Given the description of an element on the screen output the (x, y) to click on. 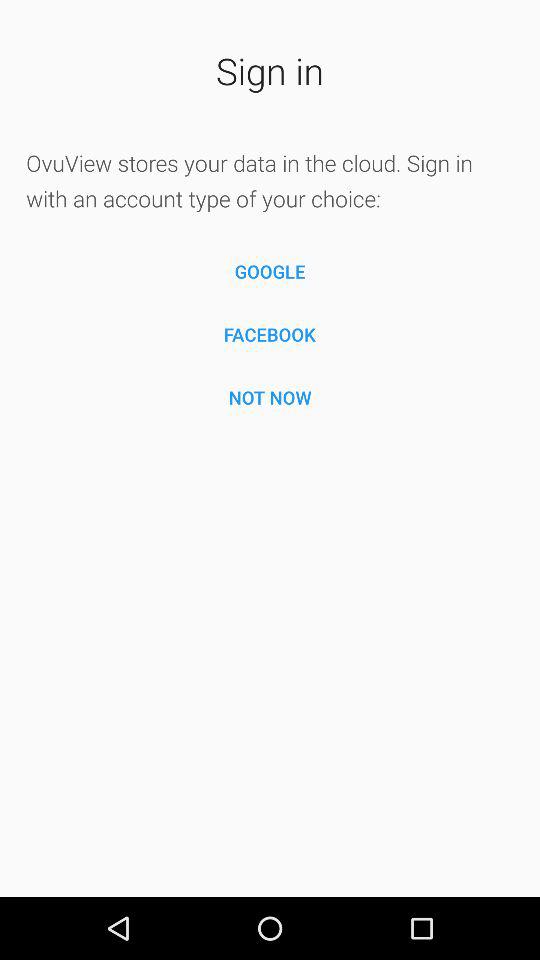
choose the icon below the facebook (269, 397)
